Given the description of an element on the screen output the (x, y) to click on. 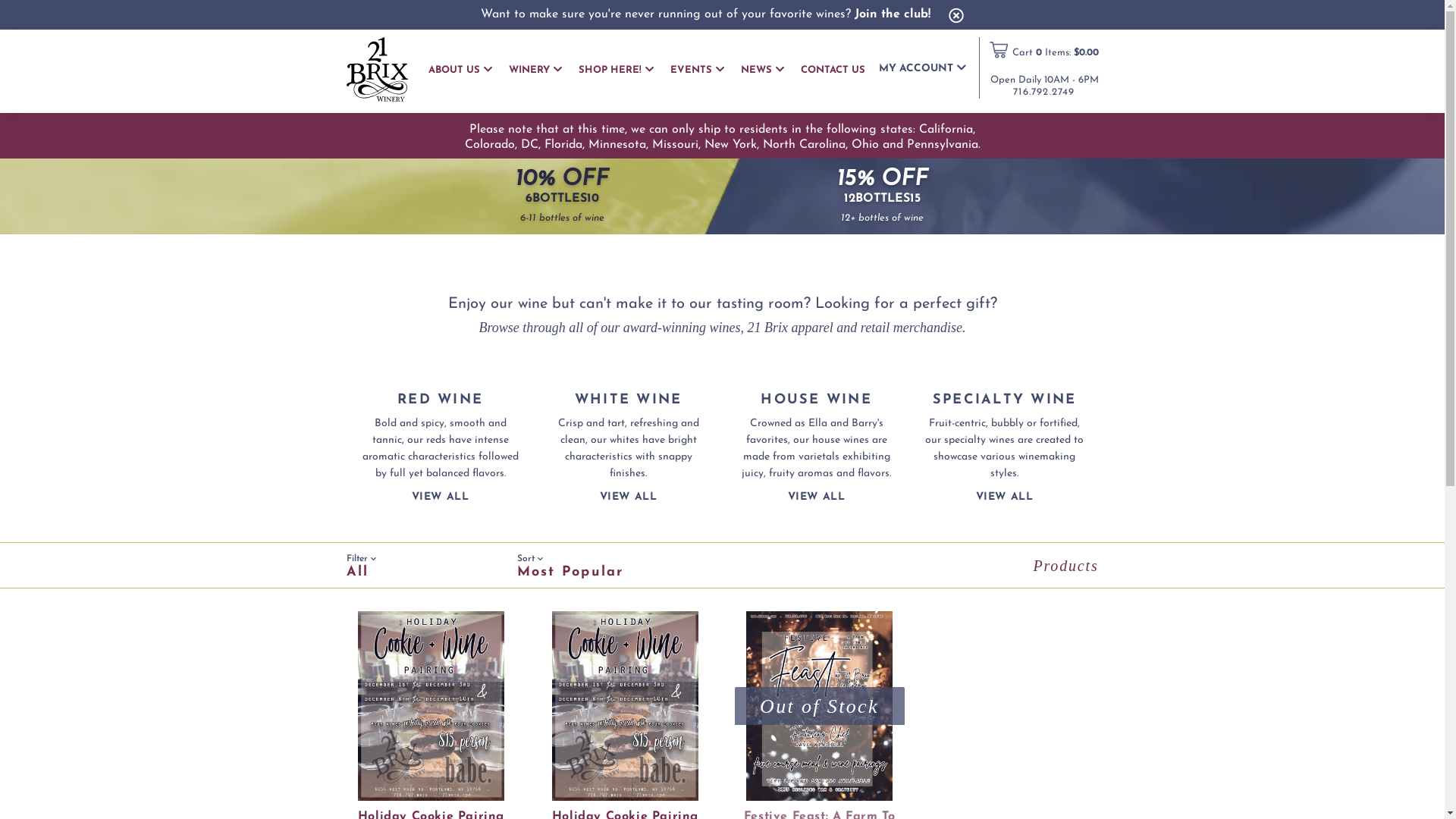
SHOP HERE! Element type: text (614, 69)
Join the club! Element type: text (892, 14)
MY ACCOUNT Element type: text (921, 68)
Shop Product Image Element type: text (430, 705)
Cart 0 Items: $0.00 Element type: text (1054, 52)
716.792.2749 Element type: text (1043, 92)
Shop Product Image Element type: text (624, 705)
CONTACT US Element type: text (832, 70)
ABOUT US Element type: text (459, 69)
NEWS Element type: text (761, 69)
Shop Product Image Element type: text (818, 705)
EVENTS Element type: text (697, 69)
WINERY Element type: text (534, 69)
